Given the description of an element on the screen output the (x, y) to click on. 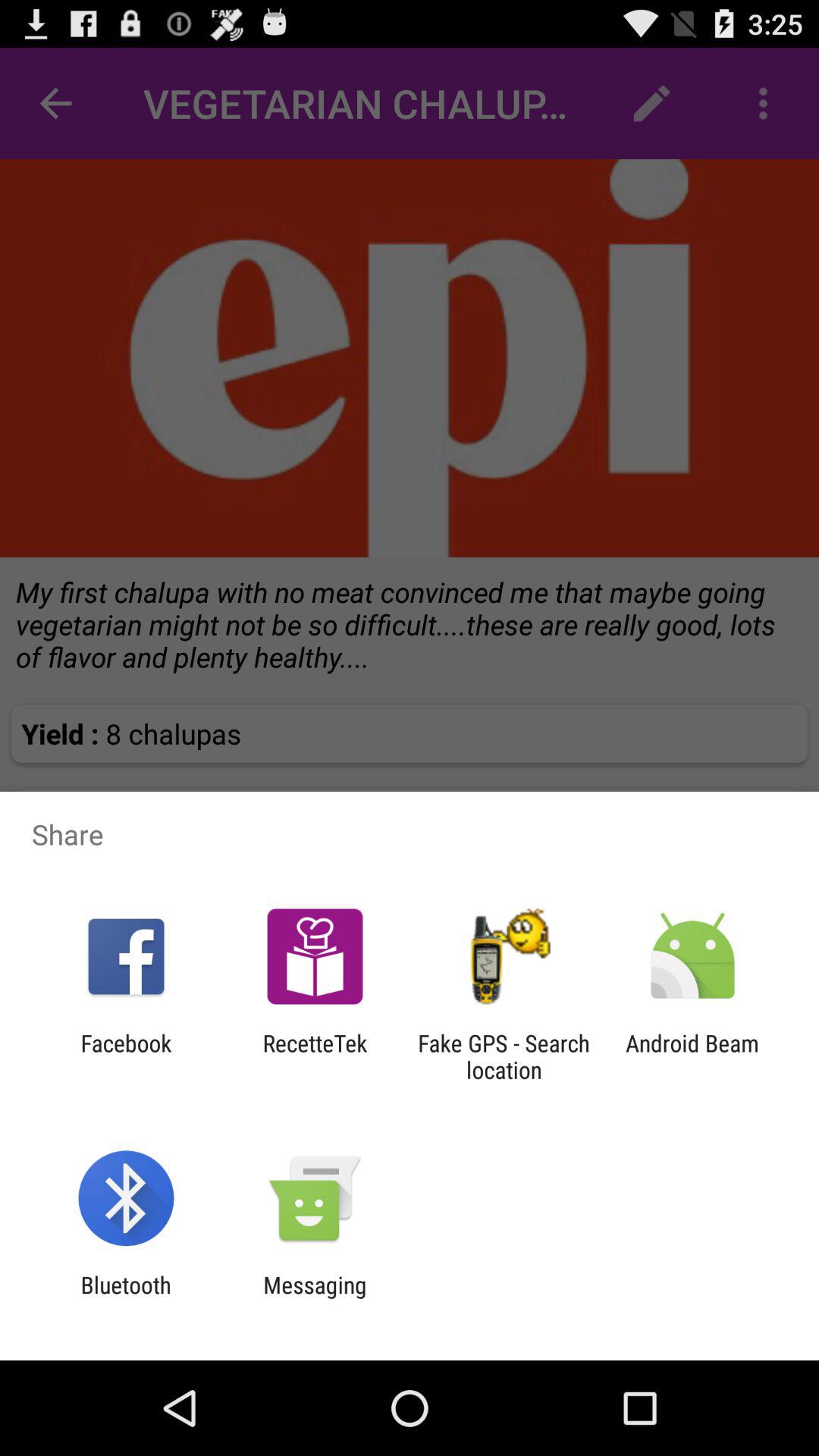
turn on the item to the right of fake gps search app (692, 1056)
